Given the description of an element on the screen output the (x, y) to click on. 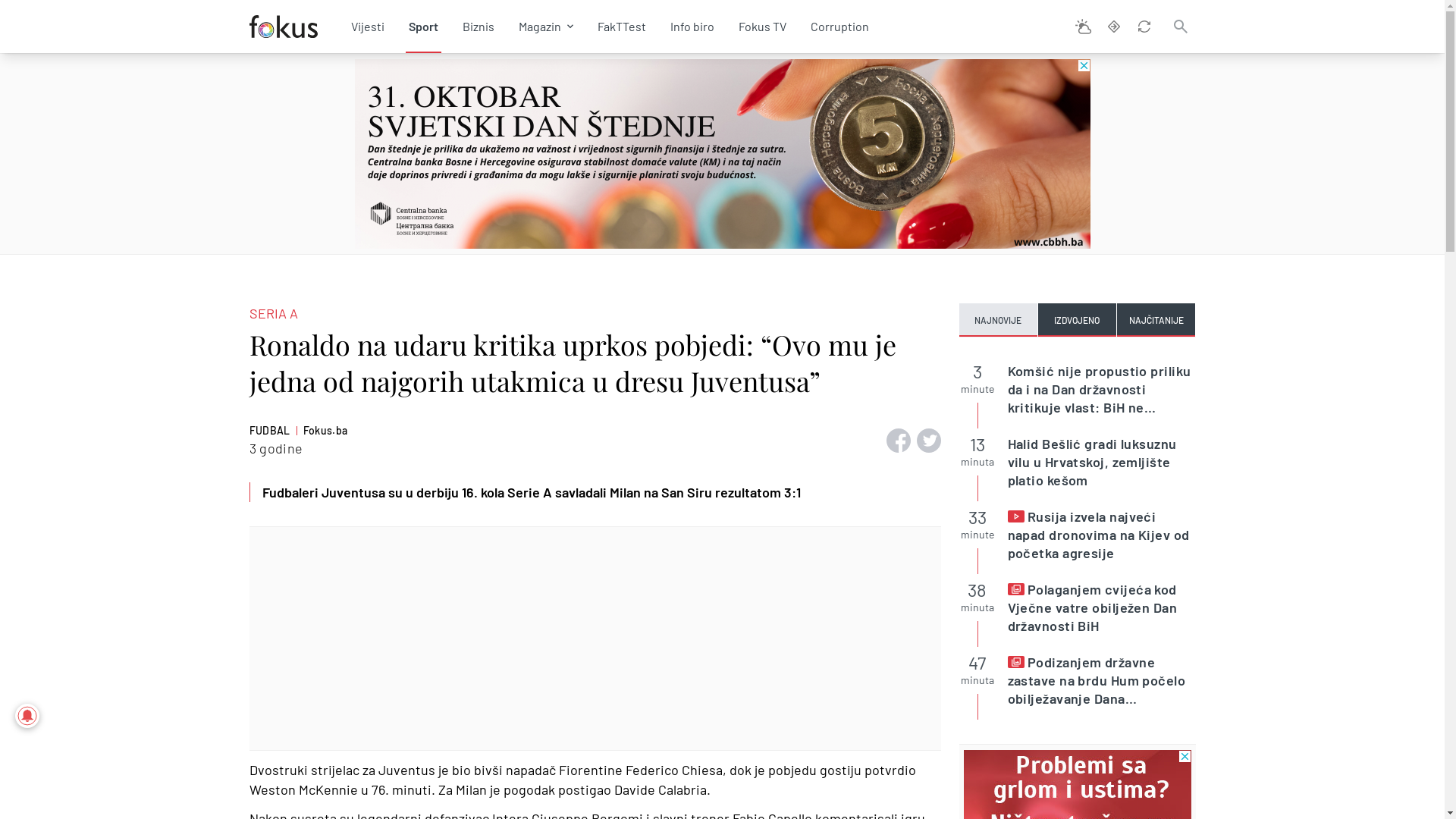
Fokus.ba Element type: text (325, 429)
Fokus TV Element type: text (762, 26)
Vijesti Element type: text (366, 26)
NAJNOVIJE Element type: text (997, 319)
3rd party ad content Element type: hover (722, 153)
FUDBAL Element type: text (268, 429)
Info biro Element type: text (692, 26)
Magazin Element type: text (539, 26)
IZDVOJENO Element type: text (1077, 319)
Biznis Element type: text (478, 26)
Sport Element type: text (422, 26)
Advertisement Element type: hover (594, 638)
search Element type: text (1179, 26)
Corruption Element type: text (838, 26)
FakTTest Element type: text (621, 26)
